Given the description of an element on the screen output the (x, y) to click on. 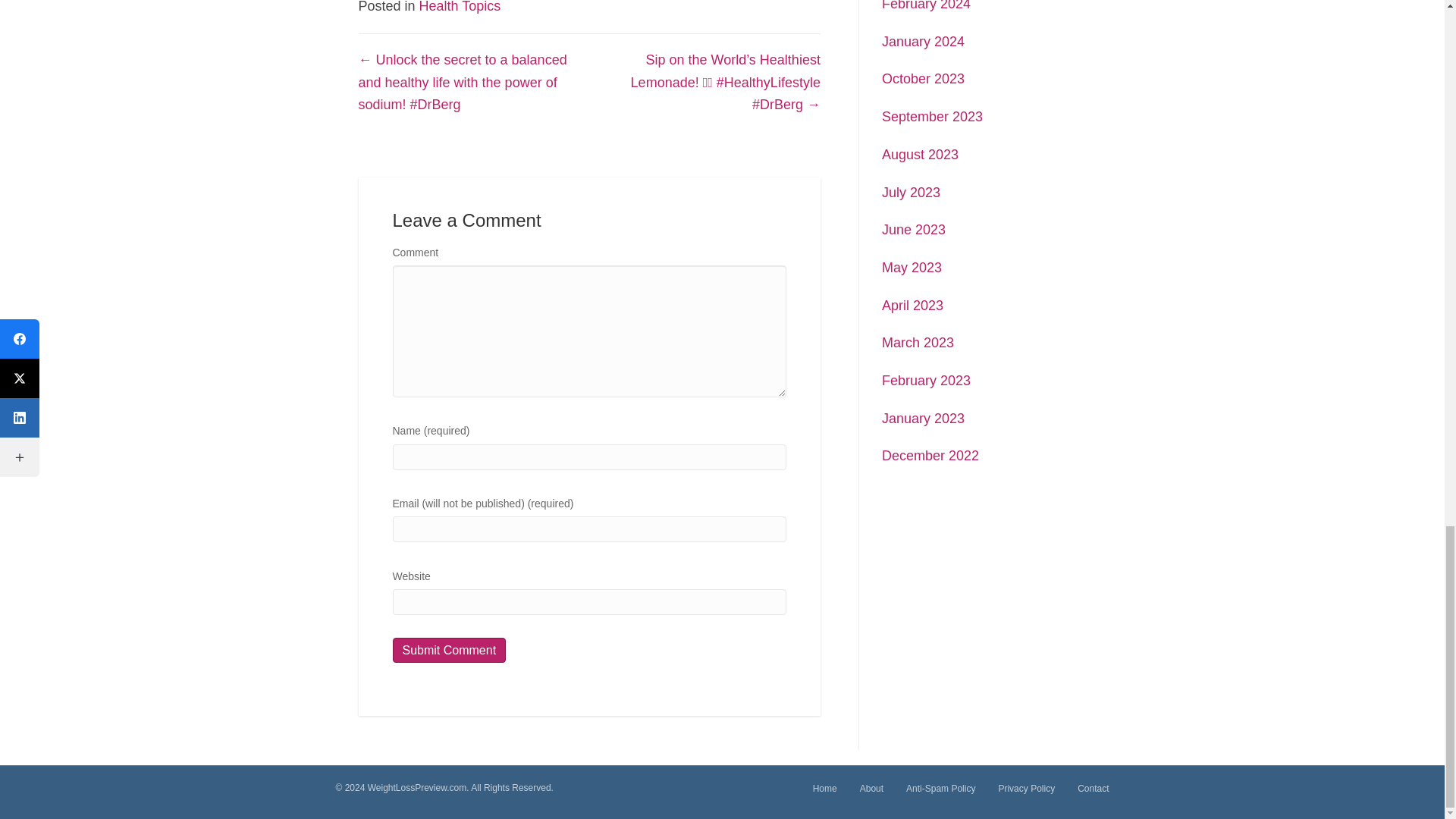
Health Topics (459, 6)
Submit Comment (449, 650)
Submit Comment (449, 650)
